Given the description of an element on the screen output the (x, y) to click on. 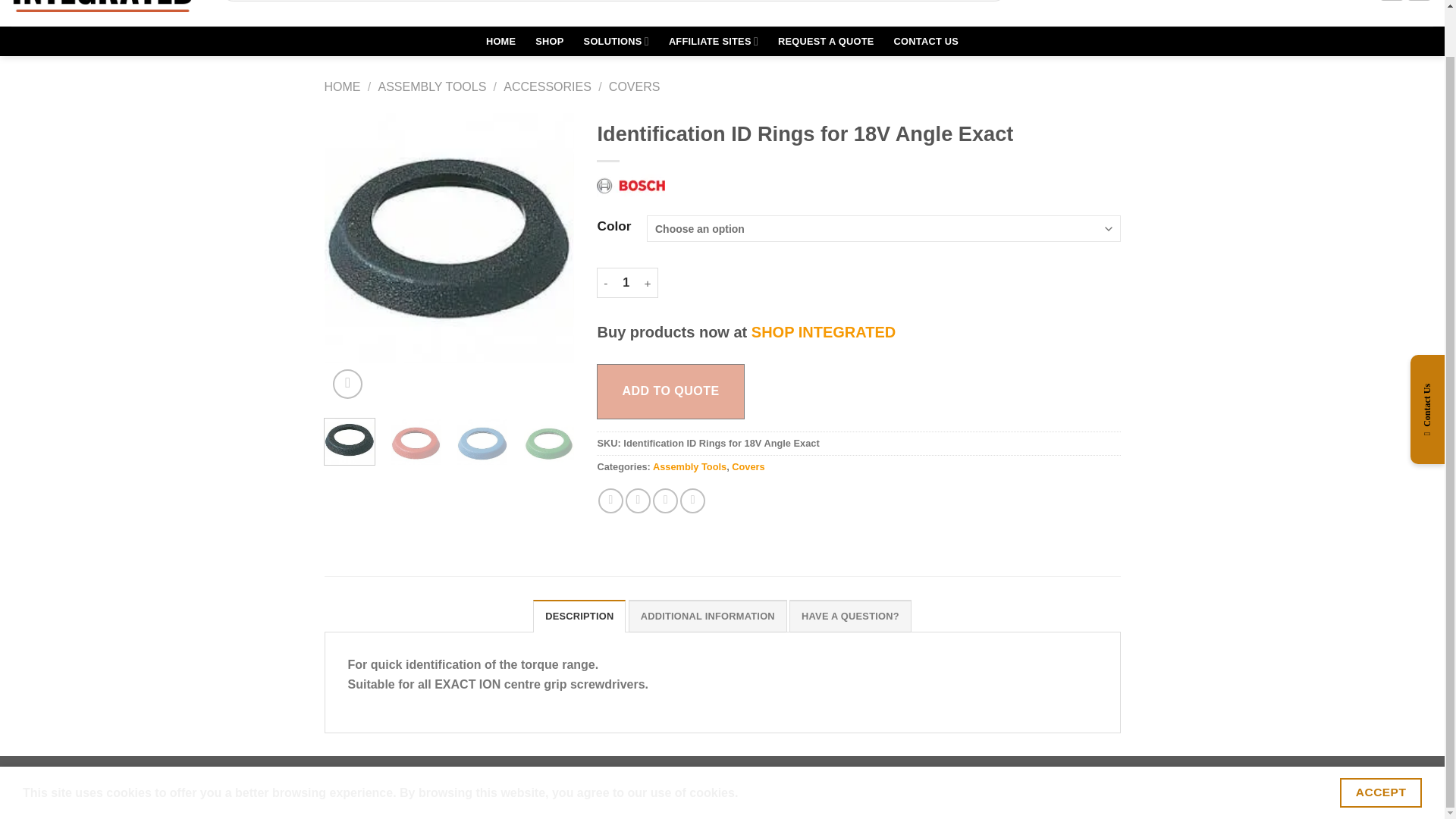
Search (992, 0)
1 (626, 282)
SHOP (549, 41)
SOLUTIONS (616, 41)
Send us an email (1391, 0)
Share on Twitter (638, 500)
Login (1300, 2)
Zoom (347, 383)
Follow on LinkedIn (1418, 0)
Email to a Friend (665, 500)
HOME (500, 41)
- (604, 282)
Share on LinkedIn (691, 500)
Share on Facebook (610, 500)
